Given the description of an element on the screen output the (x, y) to click on. 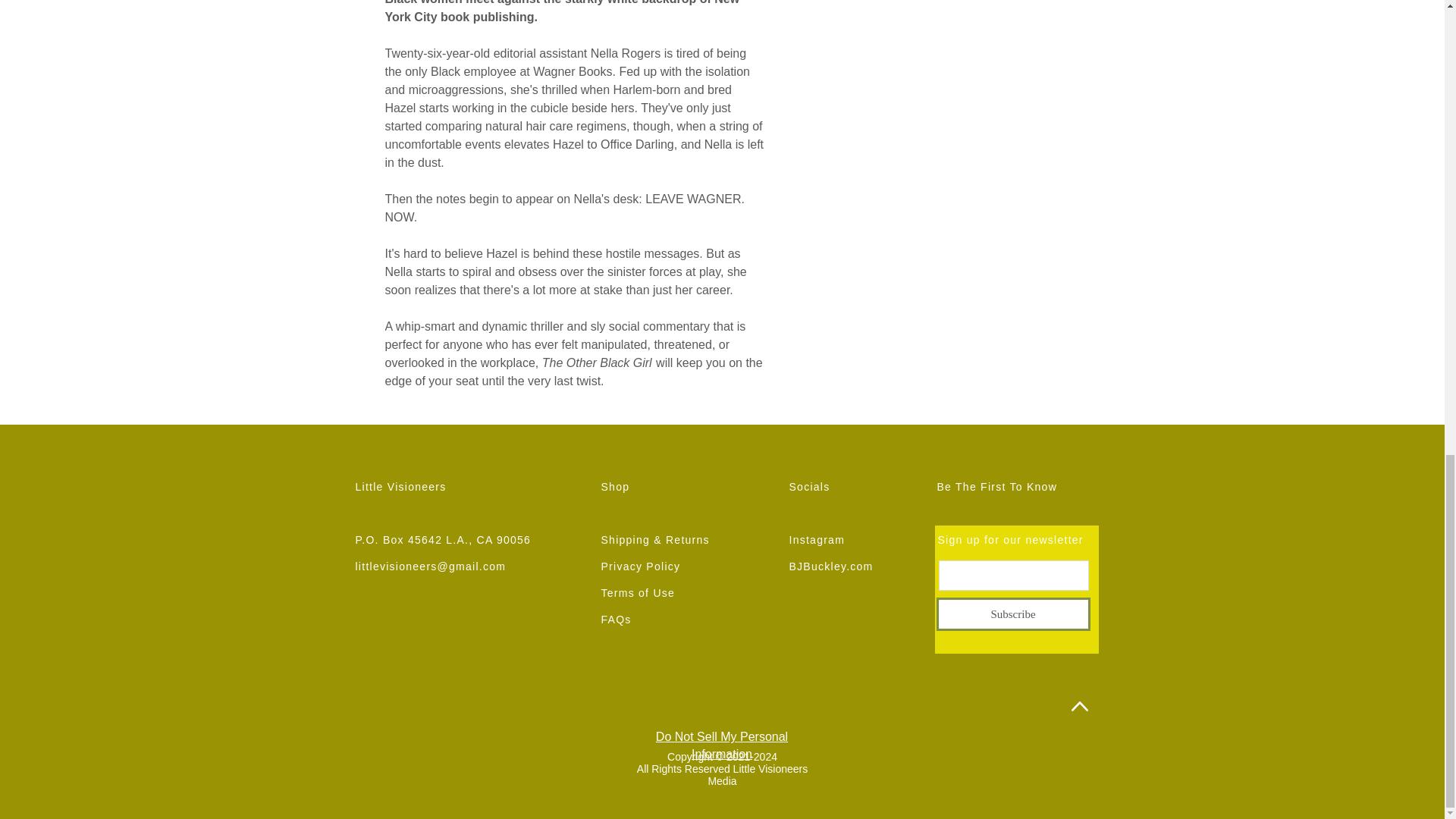
FAQs (614, 619)
Instagram (816, 539)
Subscribe (1012, 613)
Shop (613, 486)
Terms of Use (637, 592)
Privacy Policy (639, 566)
BJBuckley.com (830, 566)
Do Not Sell My Personal Information (721, 745)
